Given the description of an element on the screen output the (x, y) to click on. 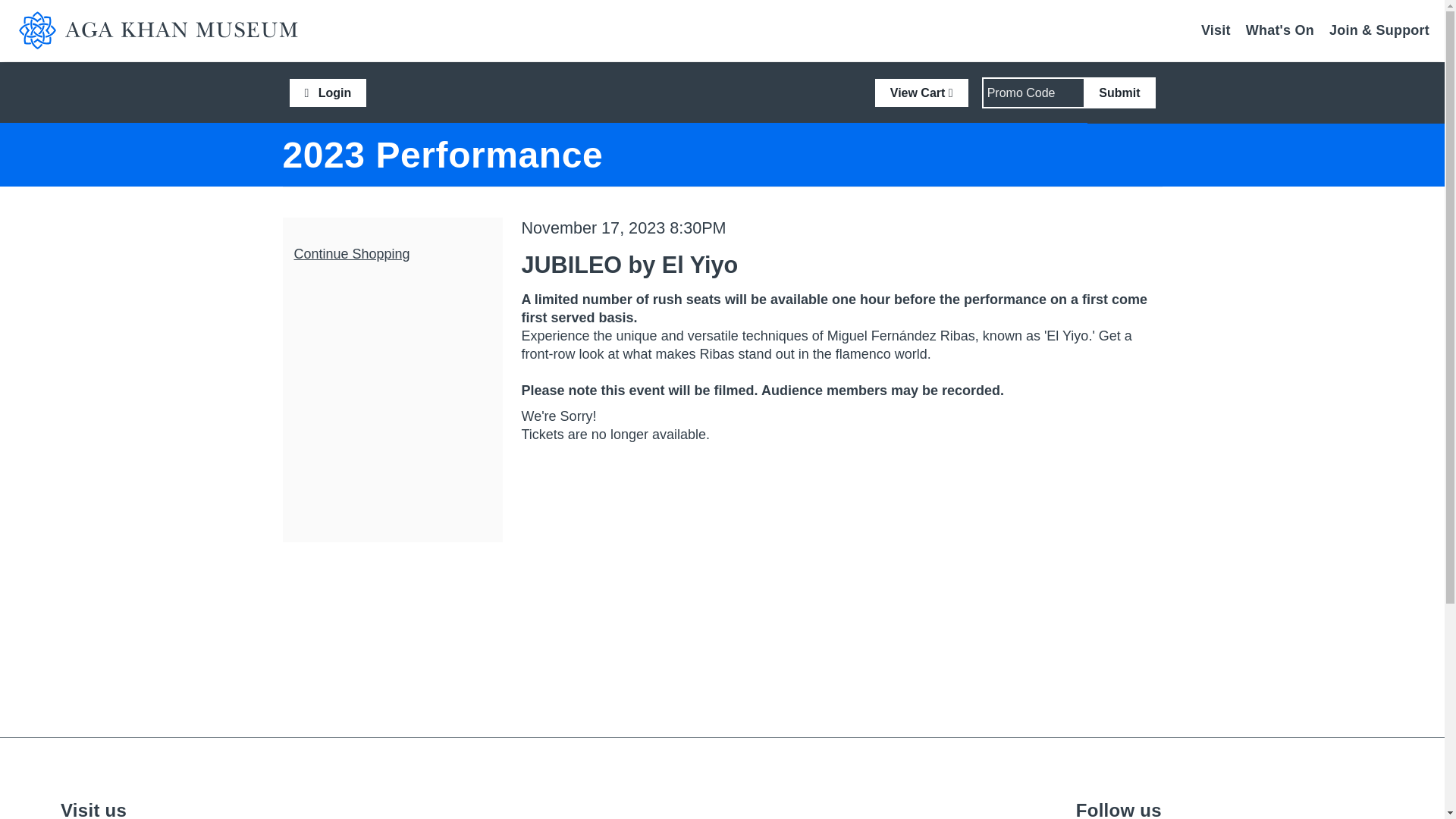
Submit (1118, 92)
What's On (1280, 30)
Aga Khan Museum - Home (166, 30)
Login (327, 92)
Aga Khan Museum (166, 30)
View Cart (921, 92)
Visit (1215, 30)
Continue Shopping (352, 253)
